Given the description of an element on the screen output the (x, y) to click on. 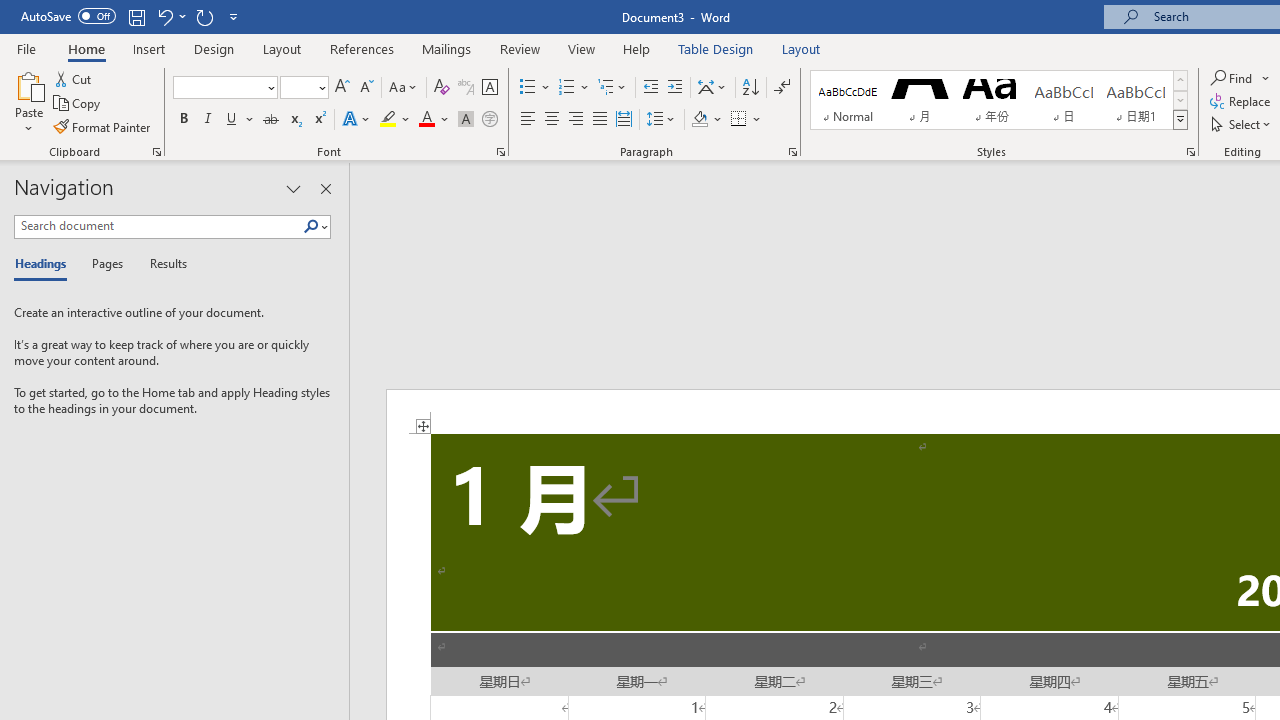
Text Effects and Typography (357, 119)
Enclose Characters... (489, 119)
Line and Paragraph Spacing (661, 119)
Layout (801, 48)
Find (1240, 78)
Office Clipboard... (156, 151)
Italic (207, 119)
Decrease Indent (650, 87)
